Given the description of an element on the screen output the (x, y) to click on. 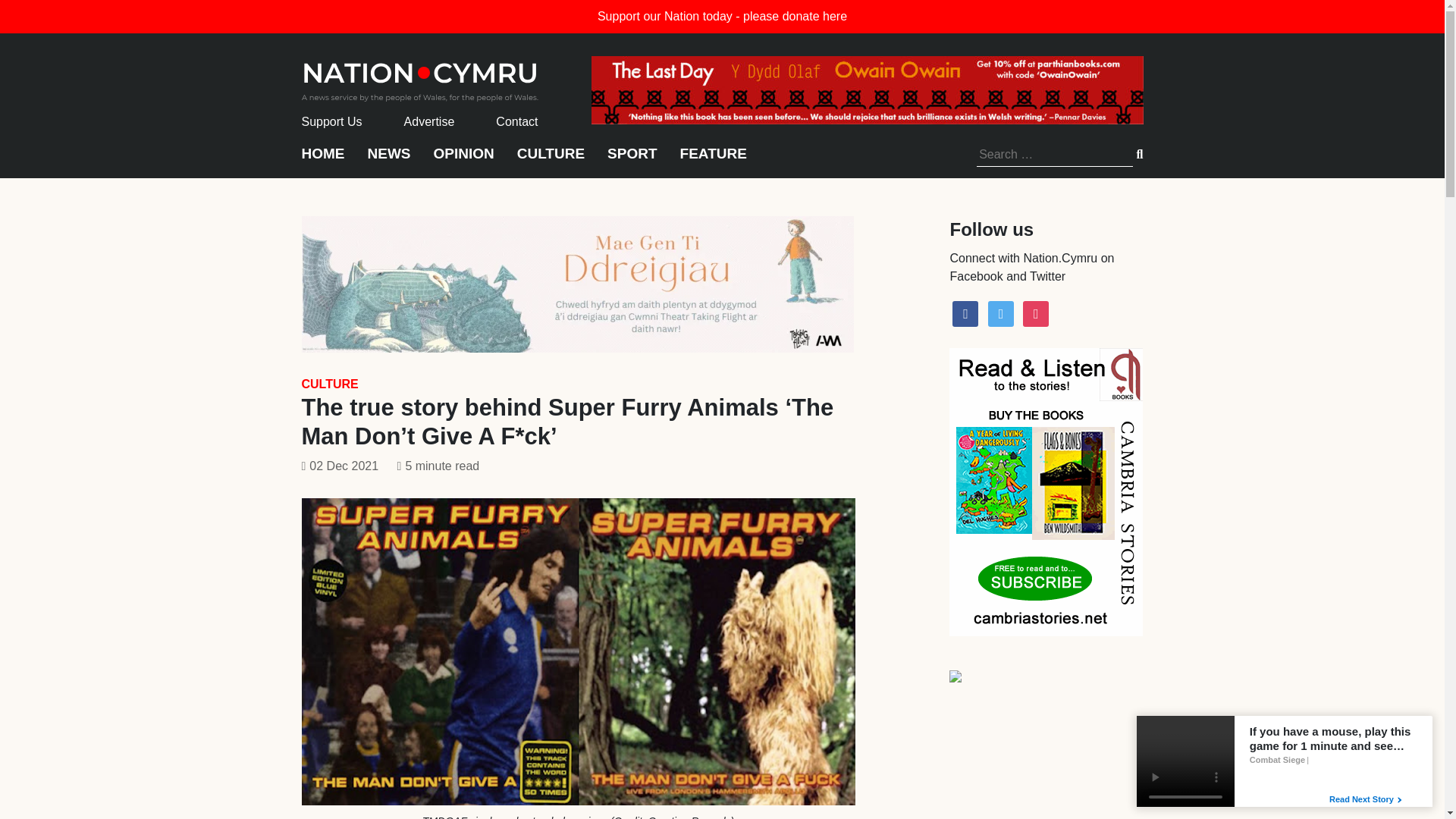
NEWS (388, 160)
CULTURE (550, 160)
Support Us (331, 121)
OPINION (464, 160)
Contact (516, 121)
HOME (323, 160)
Advertise (429, 121)
FEATURE (712, 160)
home (419, 77)
SPORT (631, 160)
CULTURE (329, 383)
